Given the description of an element on the screen output the (x, y) to click on. 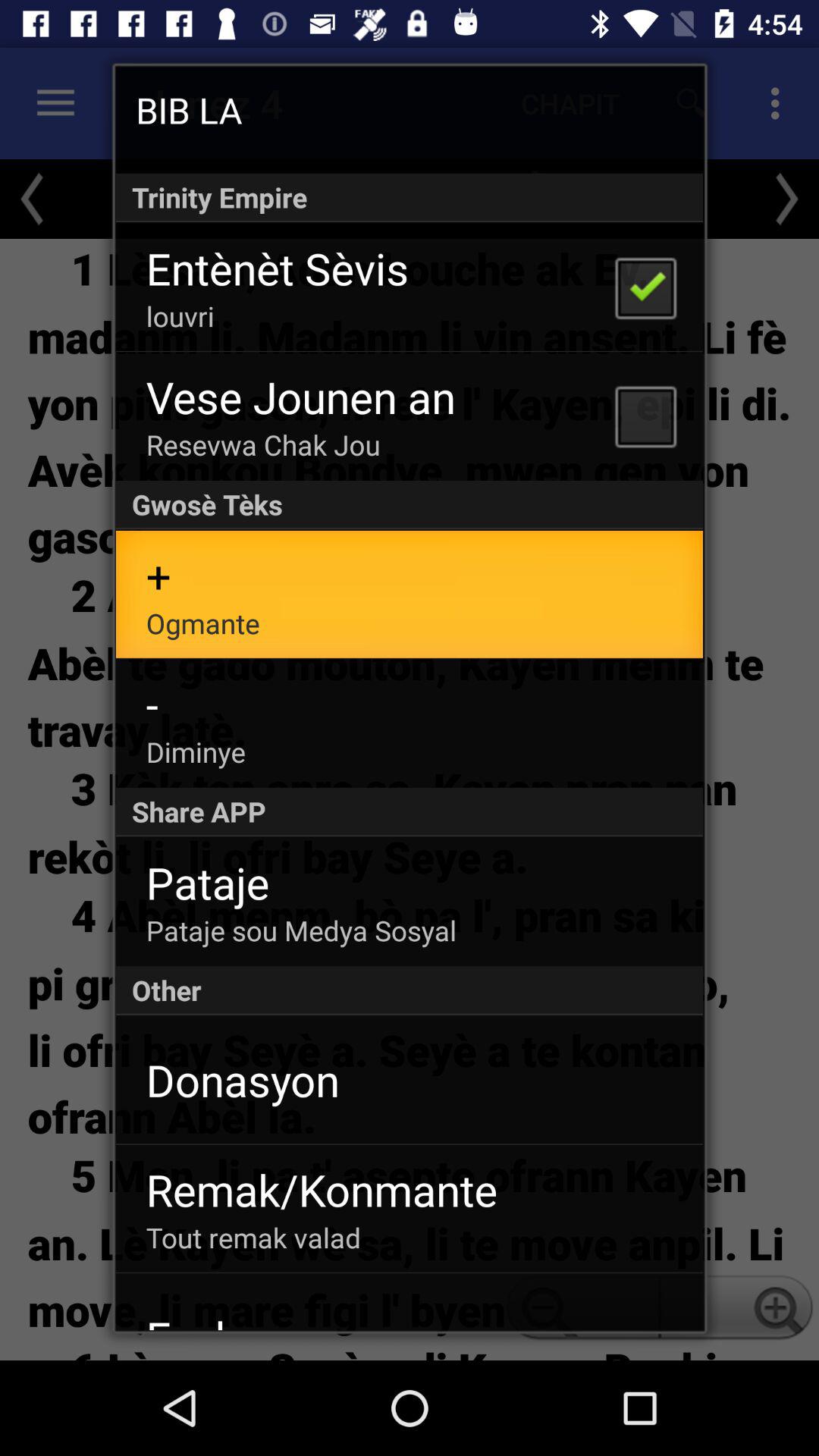
click the app below the bib la app (409, 197)
